Given the description of an element on the screen output the (x, y) to click on. 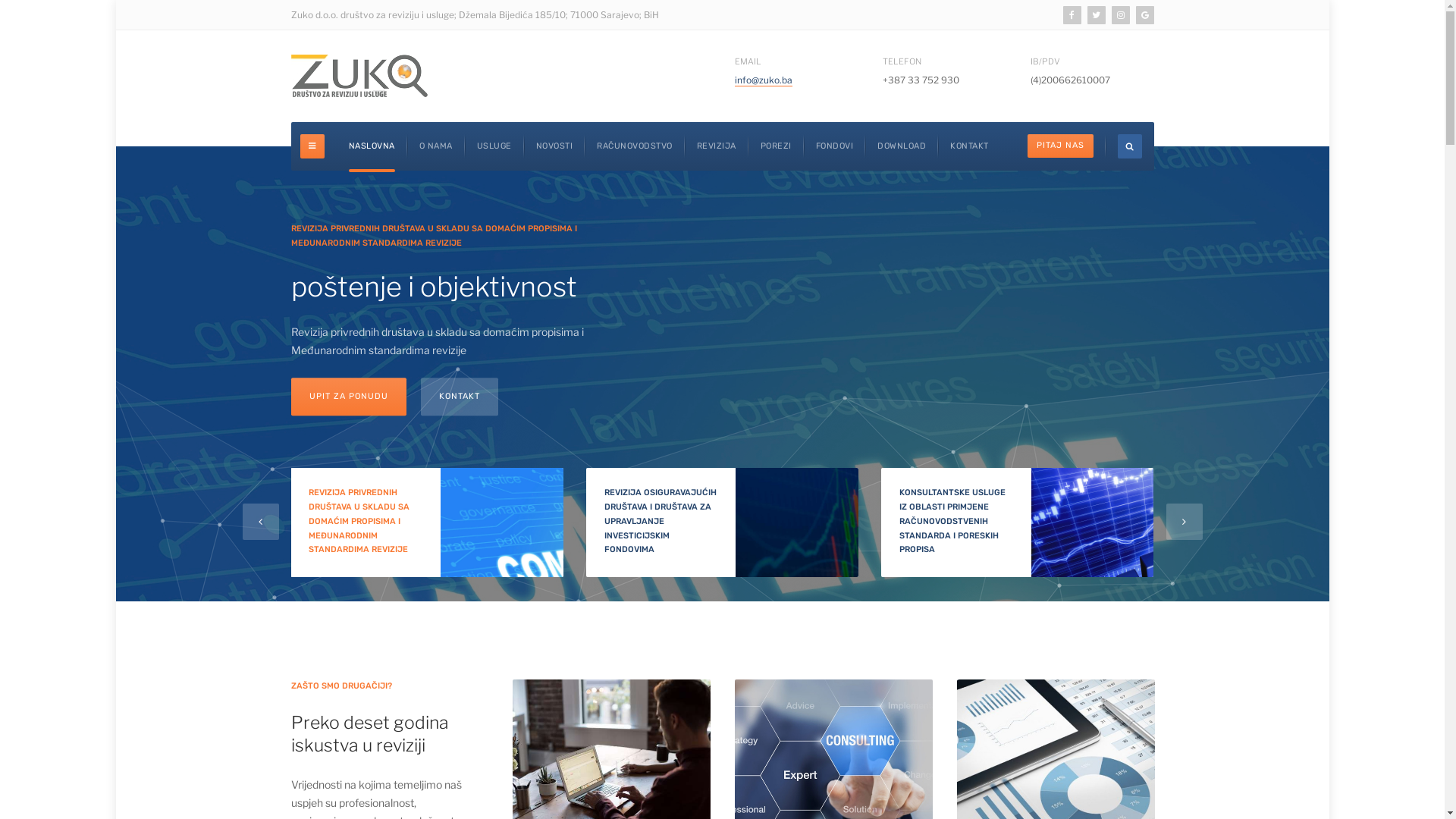
KONTAKT Element type: text (969, 146)
USLUGE Element type: text (493, 146)
Facebook Element type: hover (1072, 15)
Twitter Element type: hover (1096, 15)
FONDOVI Element type: text (834, 146)
POREZI Element type: text (774, 146)
info@zuko.ba Element type: text (762, 80)
KONTAKT Element type: text (464, 396)
UPIT ZA PONUDU Element type: text (351, 396)
Instagram Element type: hover (1120, 15)
PITAJ NAS Element type: text (1059, 145)
O NAMA Element type: text (434, 146)
NOVOSTI Element type: text (553, 146)
REVIZIJA Element type: text (715, 146)
DOWNLOAD Element type: text (901, 146)
NASLOVNA Element type: text (371, 146)
Google plus Element type: hover (1144, 15)
www.zuko.ba Element type: hover (359, 75)
